Given the description of an element on the screen output the (x, y) to click on. 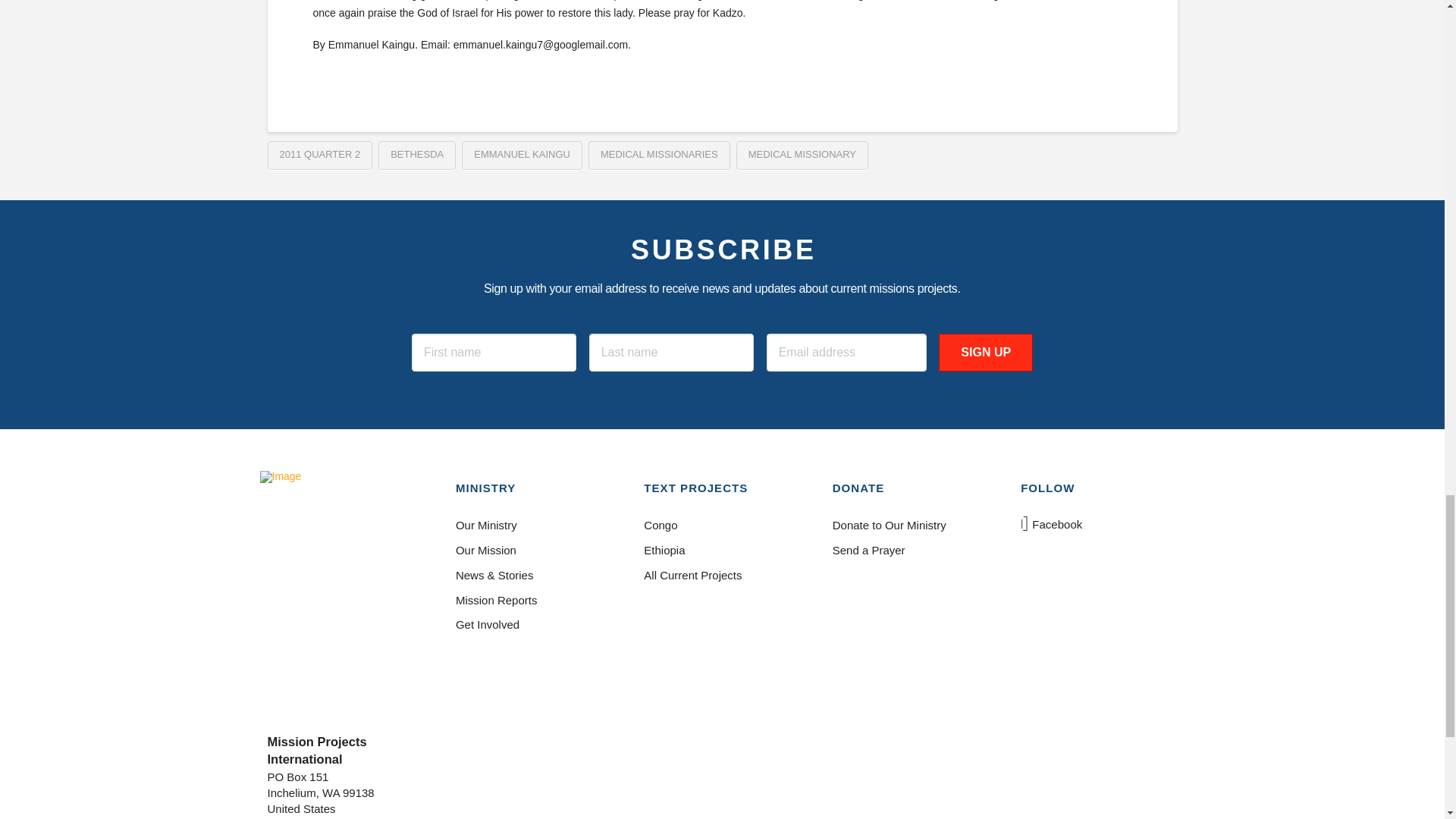
Get Involved (533, 625)
Ethiopia (721, 550)
Our Ministry (533, 525)
Sign Up (985, 352)
MEDICAL MISSIONARIES (659, 154)
Donate to Our Ministry (910, 525)
All Current Projects (721, 575)
Send a Prayer (910, 550)
EMMANUEL KAINGU (521, 154)
BETHESDA (416, 154)
